Given the description of an element on the screen output the (x, y) to click on. 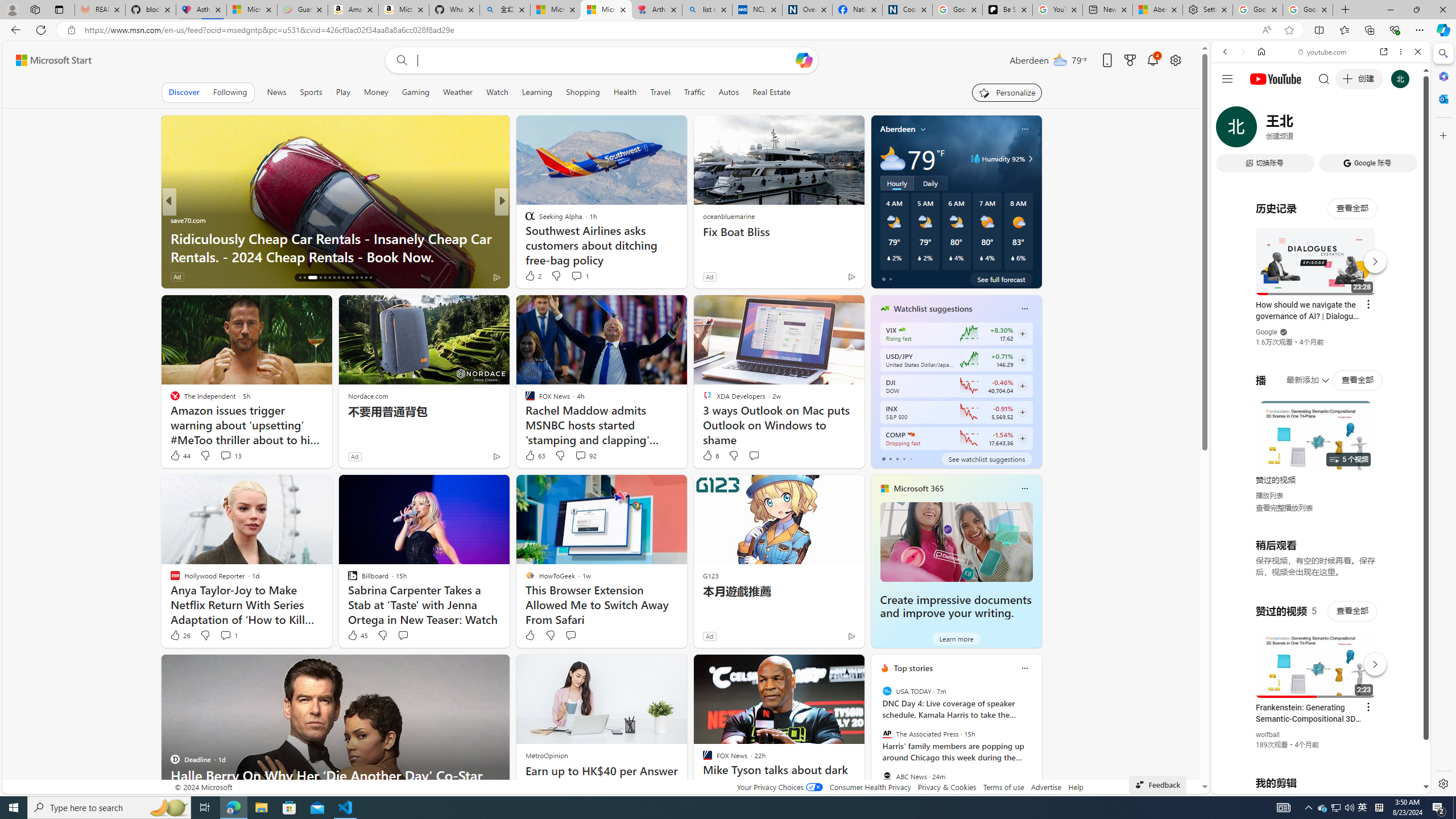
Mostly cloudy (892, 158)
tab-1 (889, 458)
8 Like (710, 455)
26 Like (179, 634)
63 Like (534, 455)
Search Filter, VIDEOS (1300, 129)
Search Filter, Search Tools (1350, 129)
CBOE Market Volatility Index (901, 329)
View comments 20 Comment (585, 276)
